Given the description of an element on the screen output the (x, y) to click on. 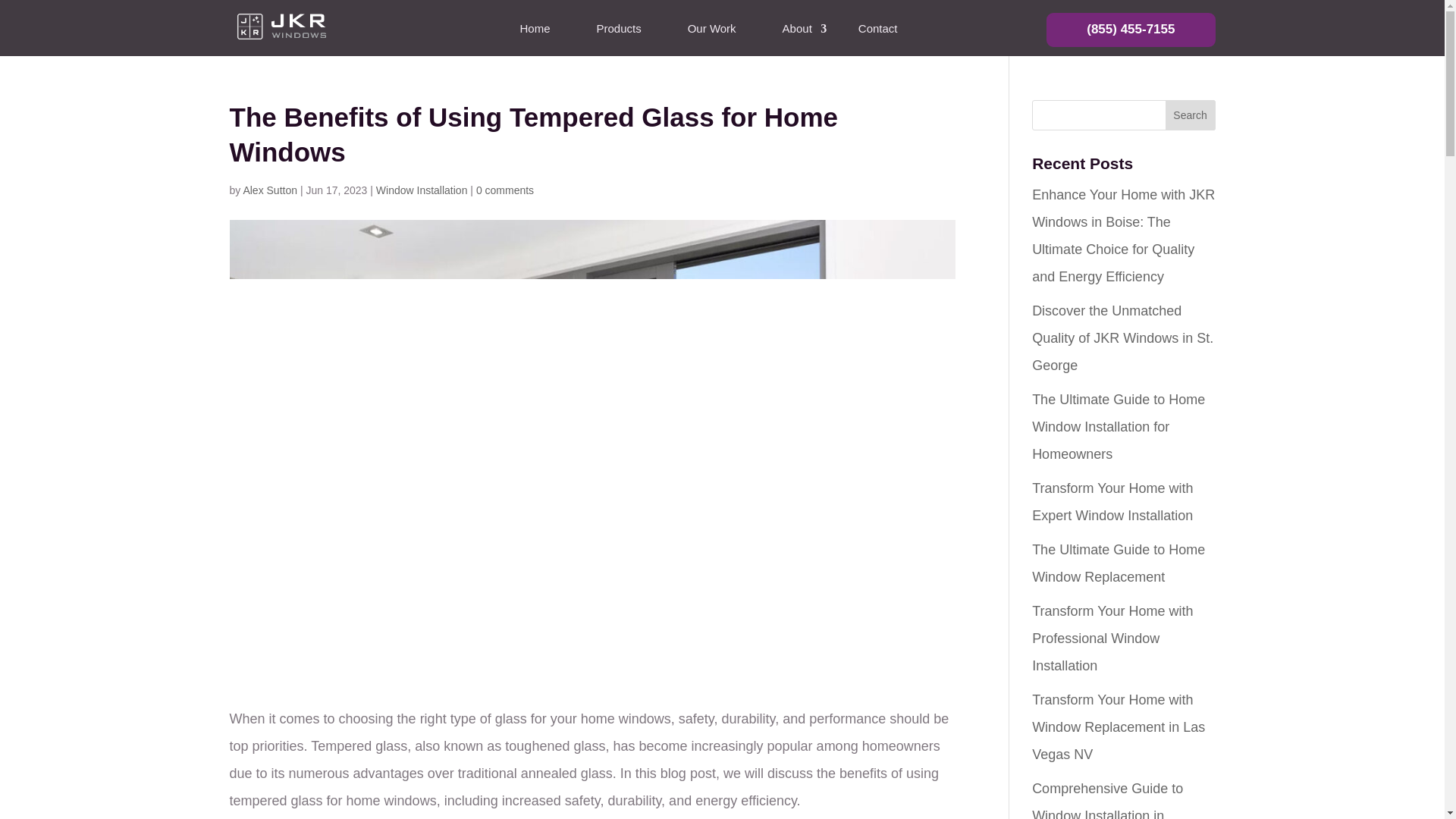
Contact (877, 31)
Search (1190, 114)
About (797, 31)
Window Installation (421, 190)
Transform Your Home with Window Replacement in Las Vegas NV (1118, 727)
Transform Your Home with Professional Window Installation (1112, 638)
Alex Sutton (270, 190)
Posts by Alex Sutton (270, 190)
Search (1190, 114)
